Given the description of an element on the screen output the (x, y) to click on. 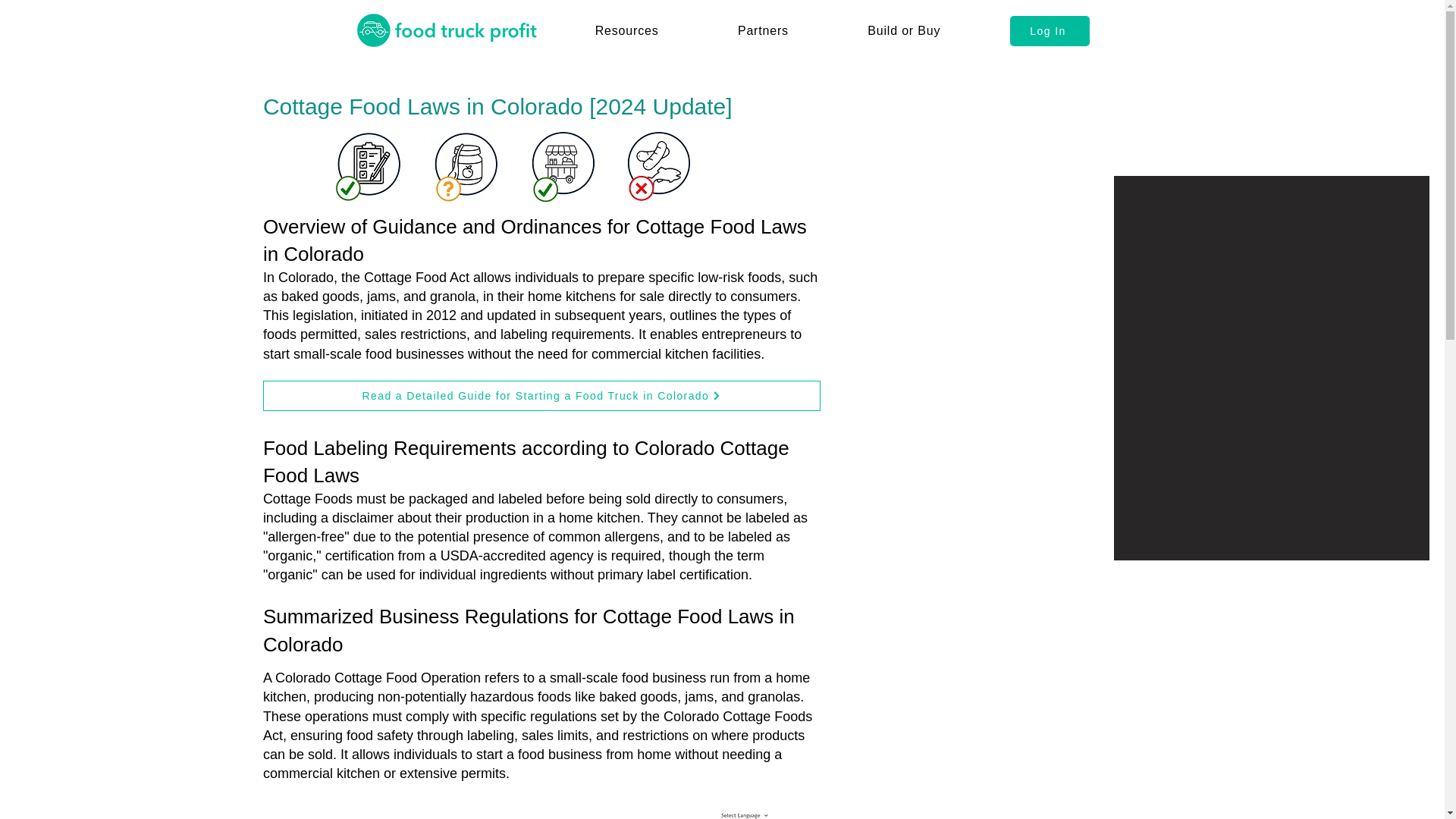
Log In (1049, 30)
Read a Detailed Guide for Starting a Food Truck in Colorado (542, 395)
